Given the description of an element on the screen output the (x, y) to click on. 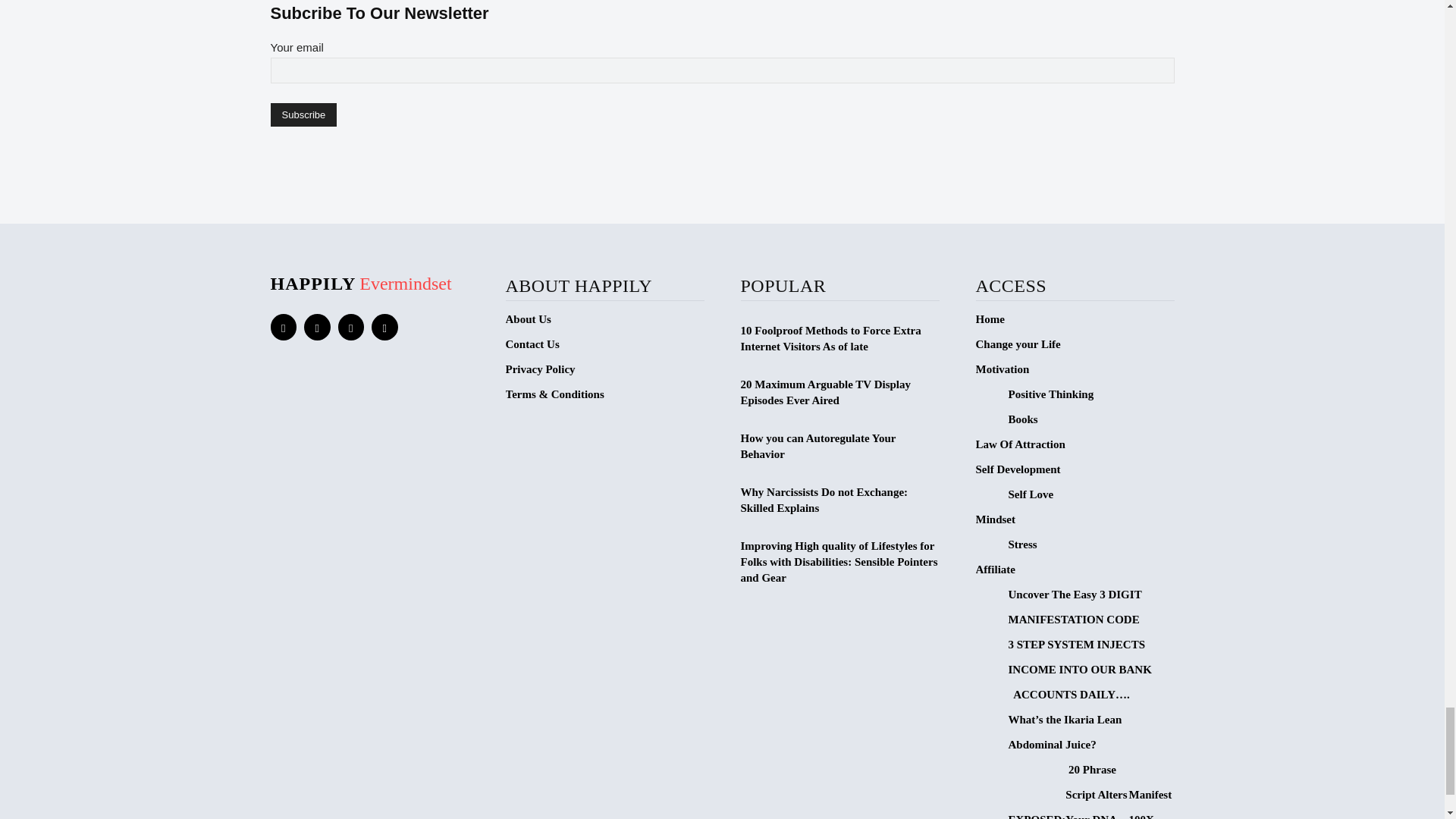
Subscribe (302, 114)
